Given the description of an element on the screen output the (x, y) to click on. 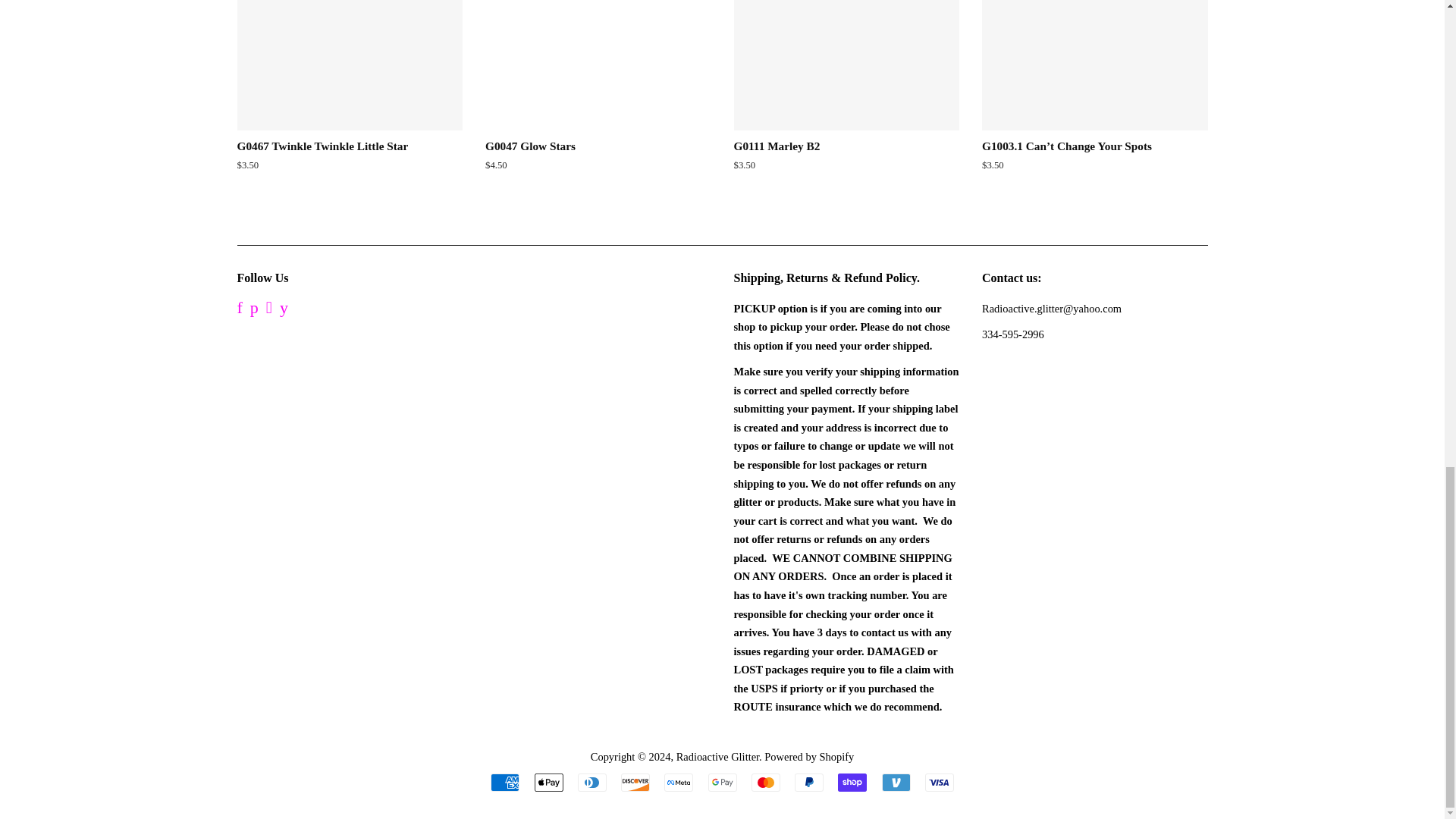
Apple Pay (548, 782)
Shop Pay (852, 782)
Mastercard (765, 782)
Discover (635, 782)
Meta Pay (678, 782)
American Express (504, 782)
Diners Club (592, 782)
Venmo (895, 782)
Powered by Shopify (808, 756)
Visa (938, 782)
